Given the description of an element on the screen output the (x, y) to click on. 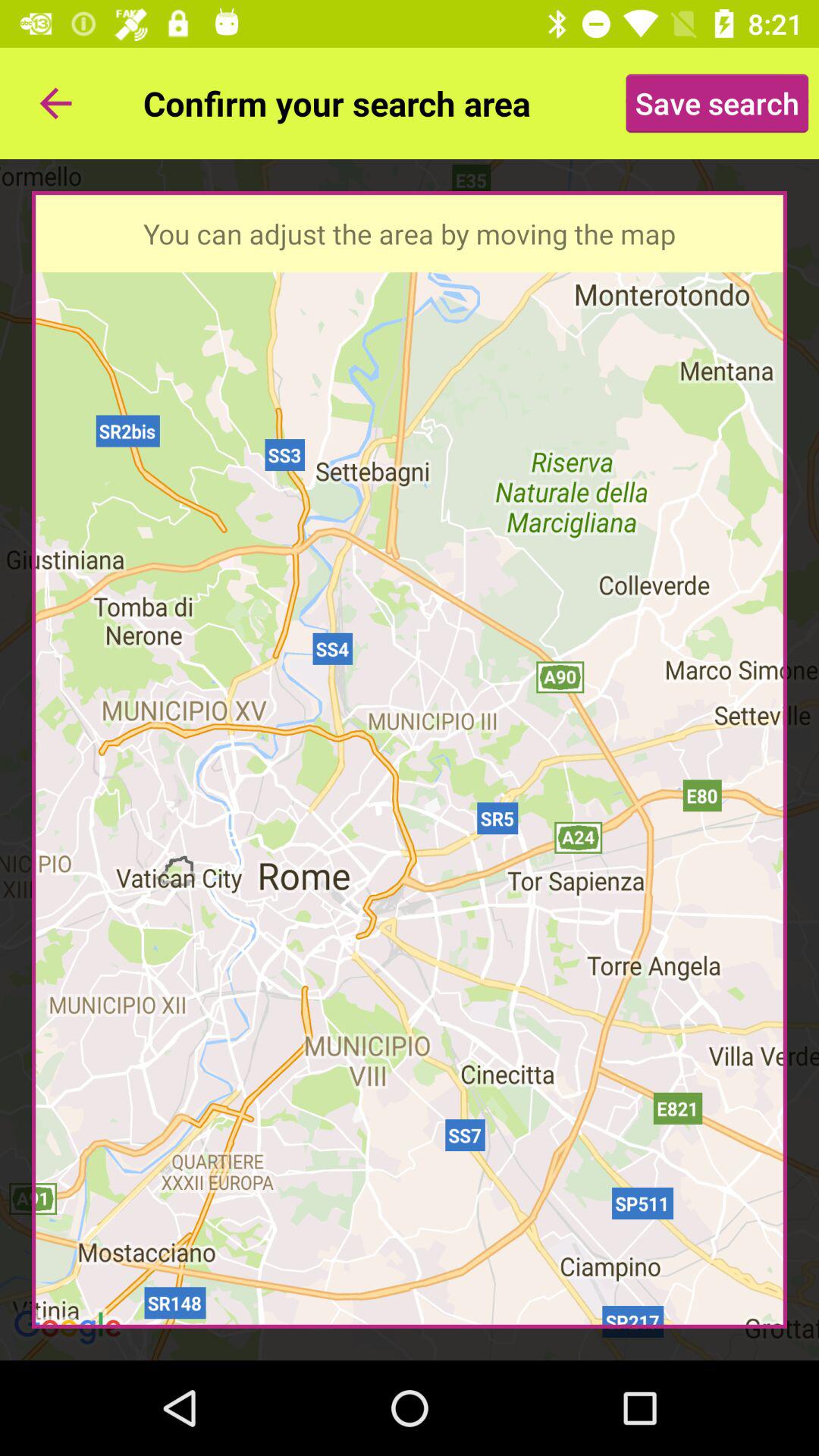
open the save search icon (717, 103)
